Given the description of an element on the screen output the (x, y) to click on. 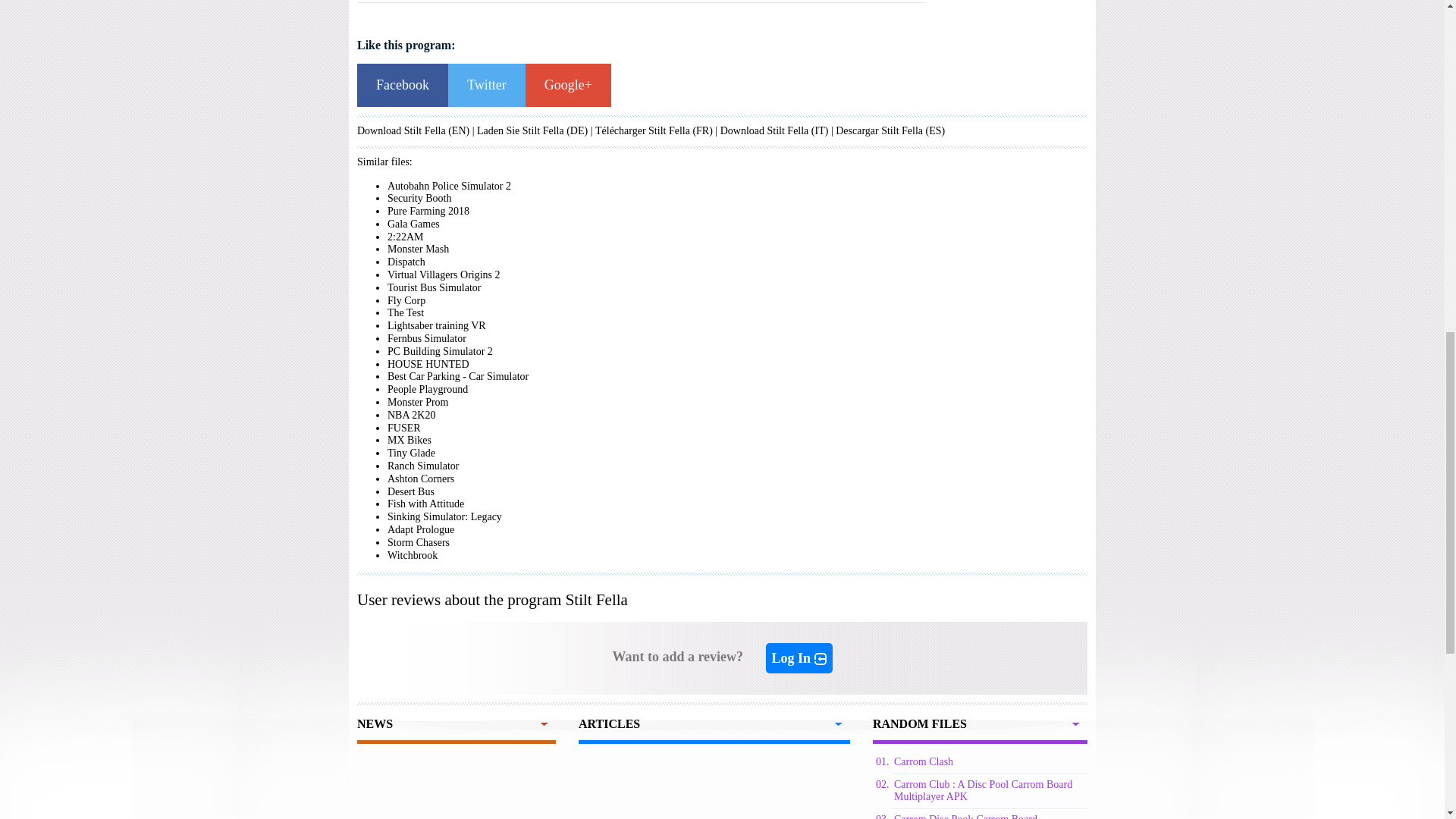
Virtual Villagers Origins 2 (443, 274)
Tourist Bus Simulator (433, 287)
Download Stilt Fella (400, 130)
HOUSE HUNTED (427, 364)
Monster Prom (417, 401)
Laden Sie Stilt Fella (520, 130)
Security Booth (419, 197)
Download Stilt Fella (764, 130)
Autobahn Police Simulator 2 (449, 185)
Monster Mash (417, 248)
Fernbus Simulator (426, 337)
Gala Games (413, 224)
Download Stilt Fella (764, 130)
Descargar Stilt Fella (879, 130)
PC Building Simulator 2 (440, 351)
